Given the description of an element on the screen output the (x, y) to click on. 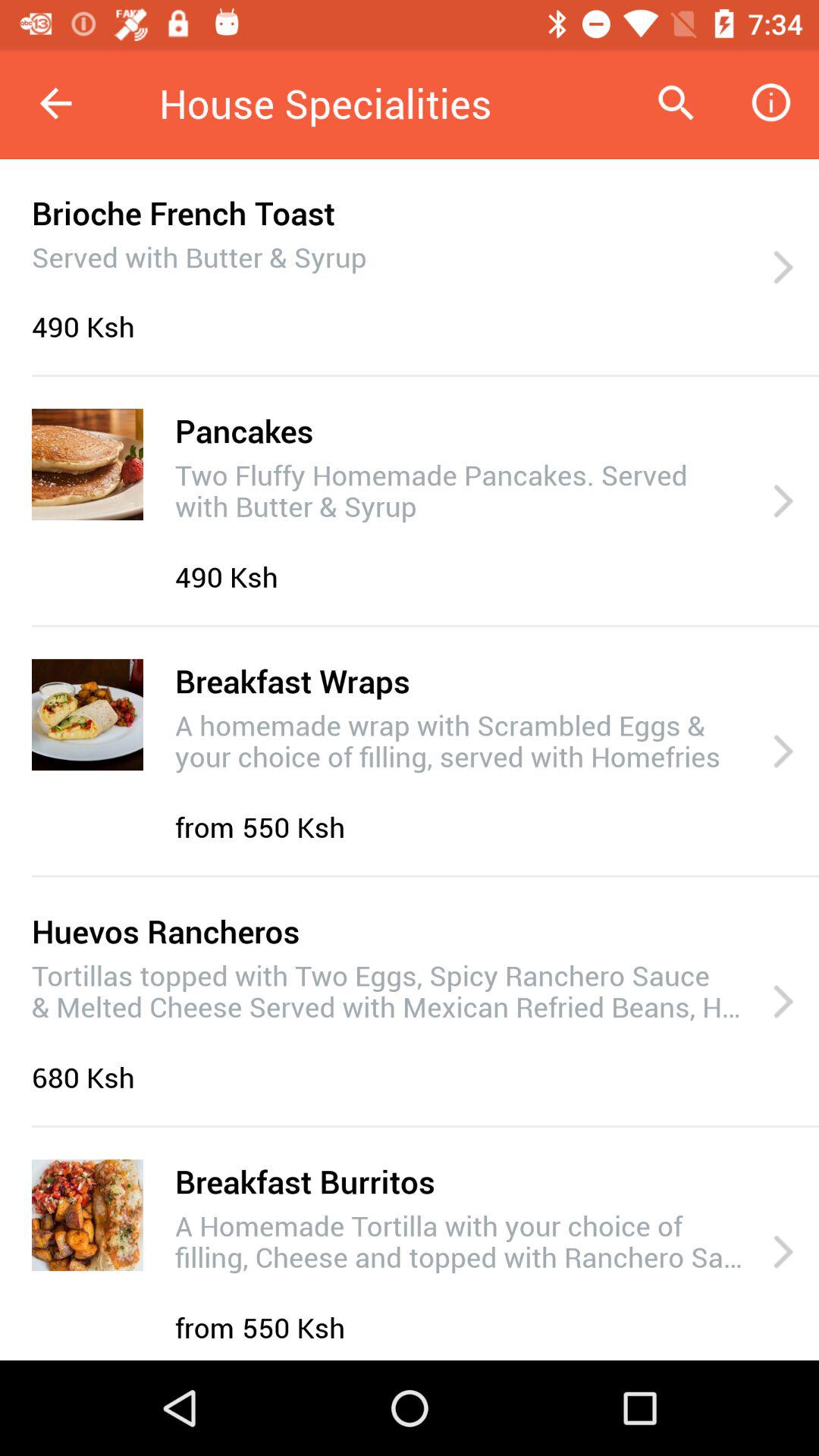
open the item below tortillas topped with item (86, 1076)
